Given the description of an element on the screen output the (x, y) to click on. 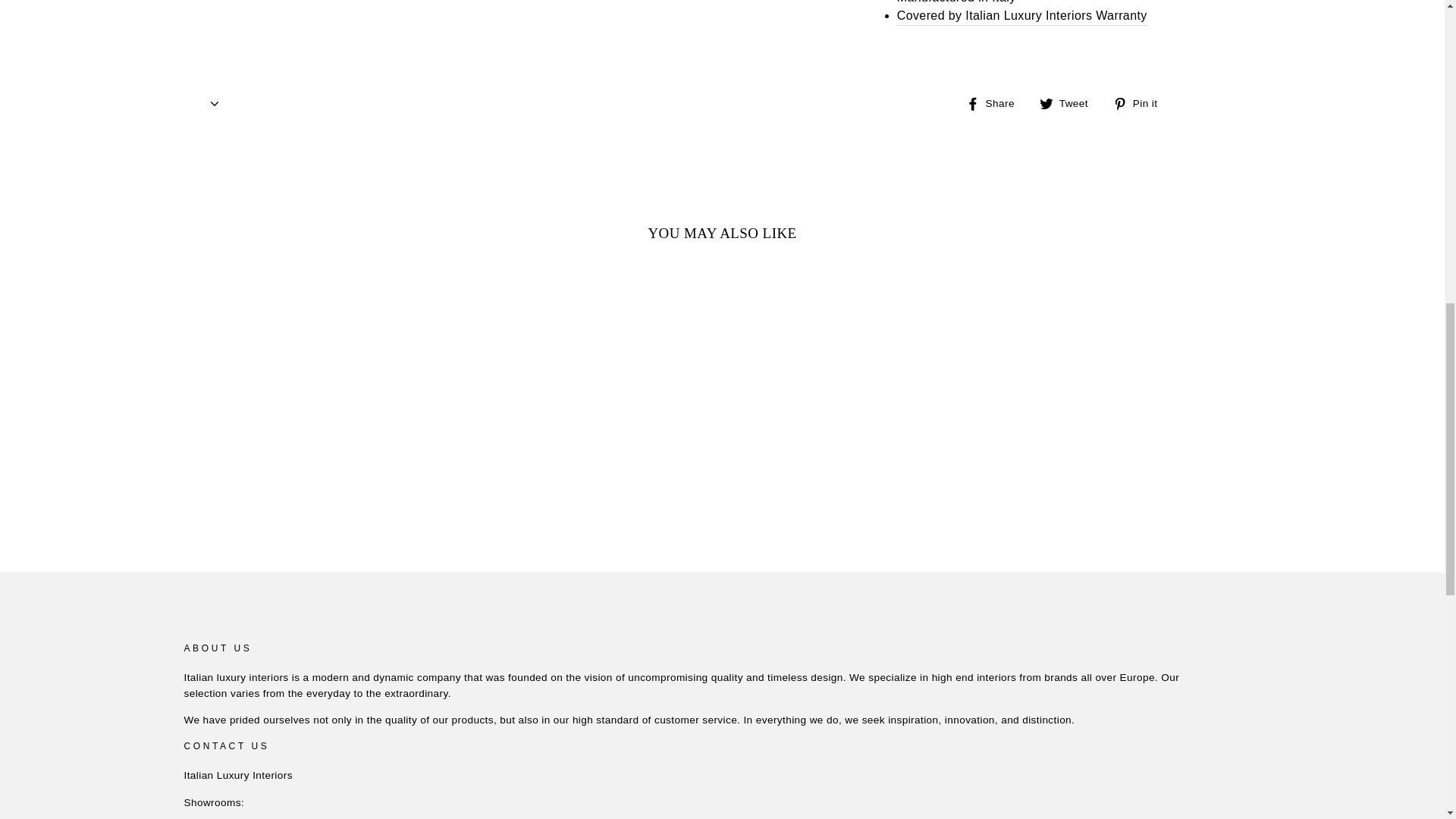
Pin on Pinterest (1141, 103)
Share on Facebook (996, 103)
Tweet on Twitter (1069, 103)
